Given the description of an element on the screen output the (x, y) to click on. 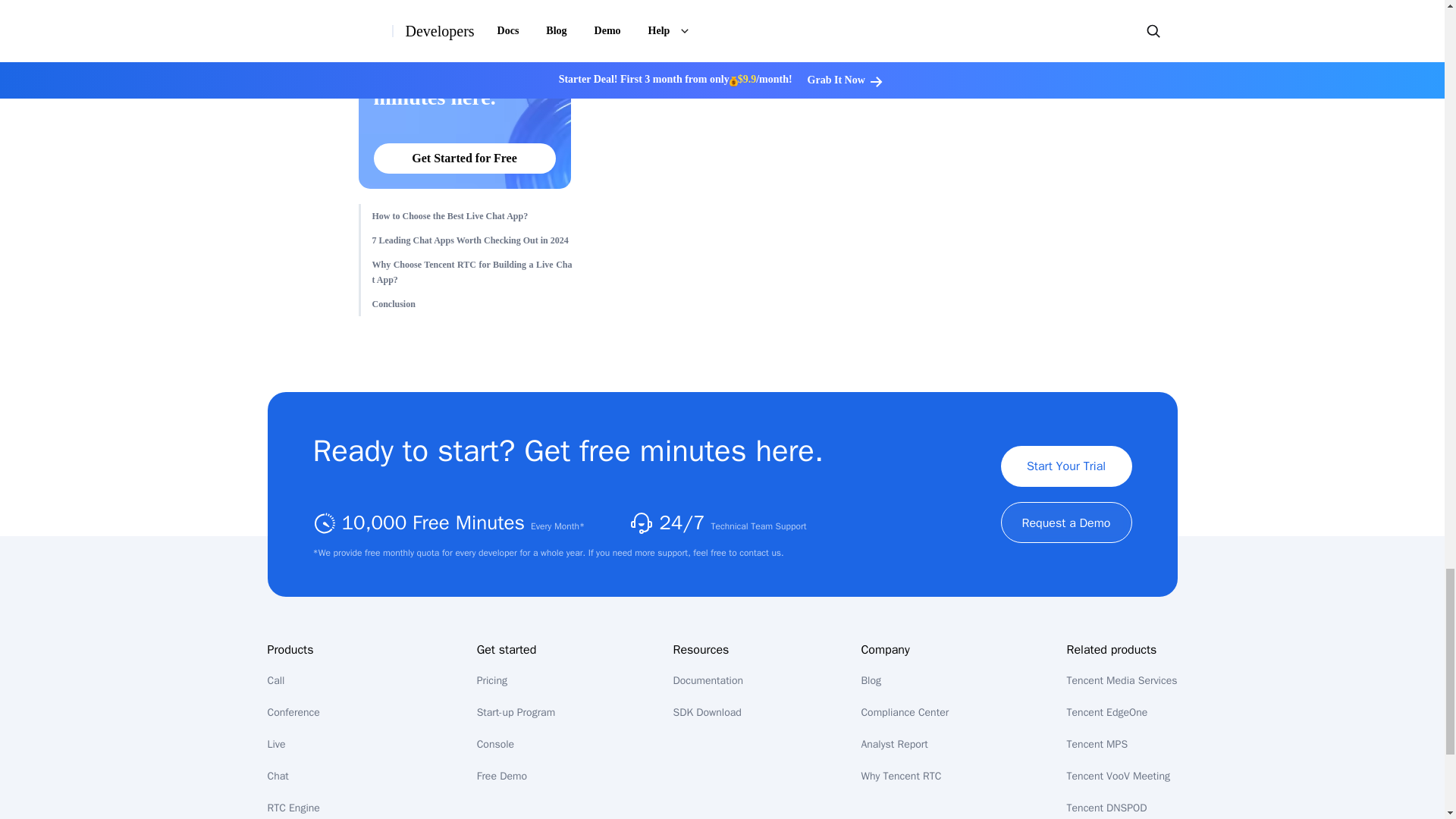
How to Choose the Best Live Chat App? (471, 215)
Tencent Media Services (1122, 680)
Tencent DNSPOD (1107, 807)
Pricing (464, 11)
Why Choose Tencent RTC for Building a Live Chat App? (491, 680)
Conclusion (471, 271)
Tencent MPS (471, 303)
Blog (1097, 744)
Conference (870, 680)
Why Tencent RTC (292, 712)
Call (900, 775)
7 Leading Chat Apps Worth Checking Out in 2024 (274, 680)
Console (471, 240)
Documentation (495, 744)
